Given the description of an element on the screen output the (x, y) to click on. 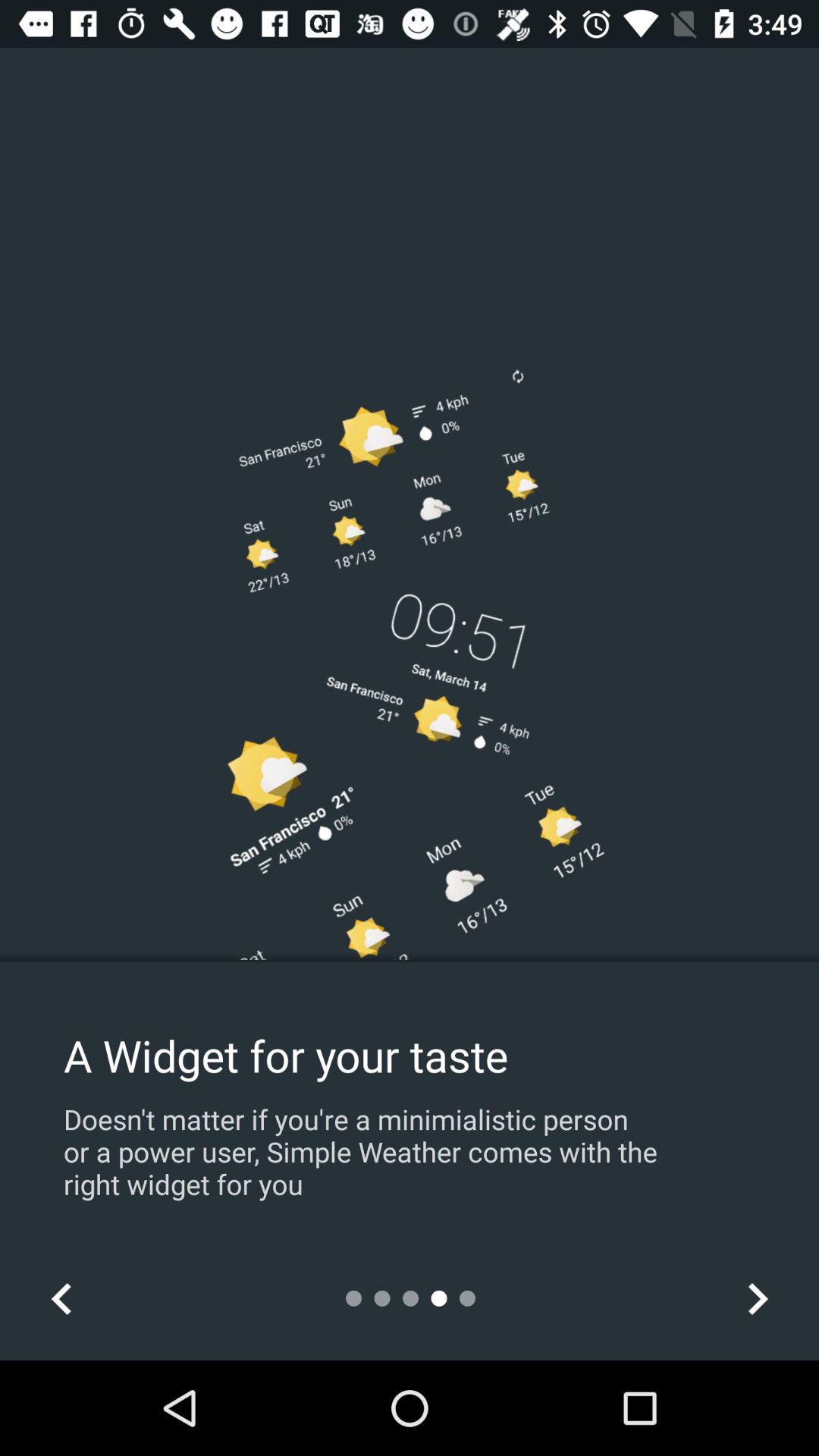
tap icon at the bottom right corner (757, 1298)
